Given the description of an element on the screen output the (x, y) to click on. 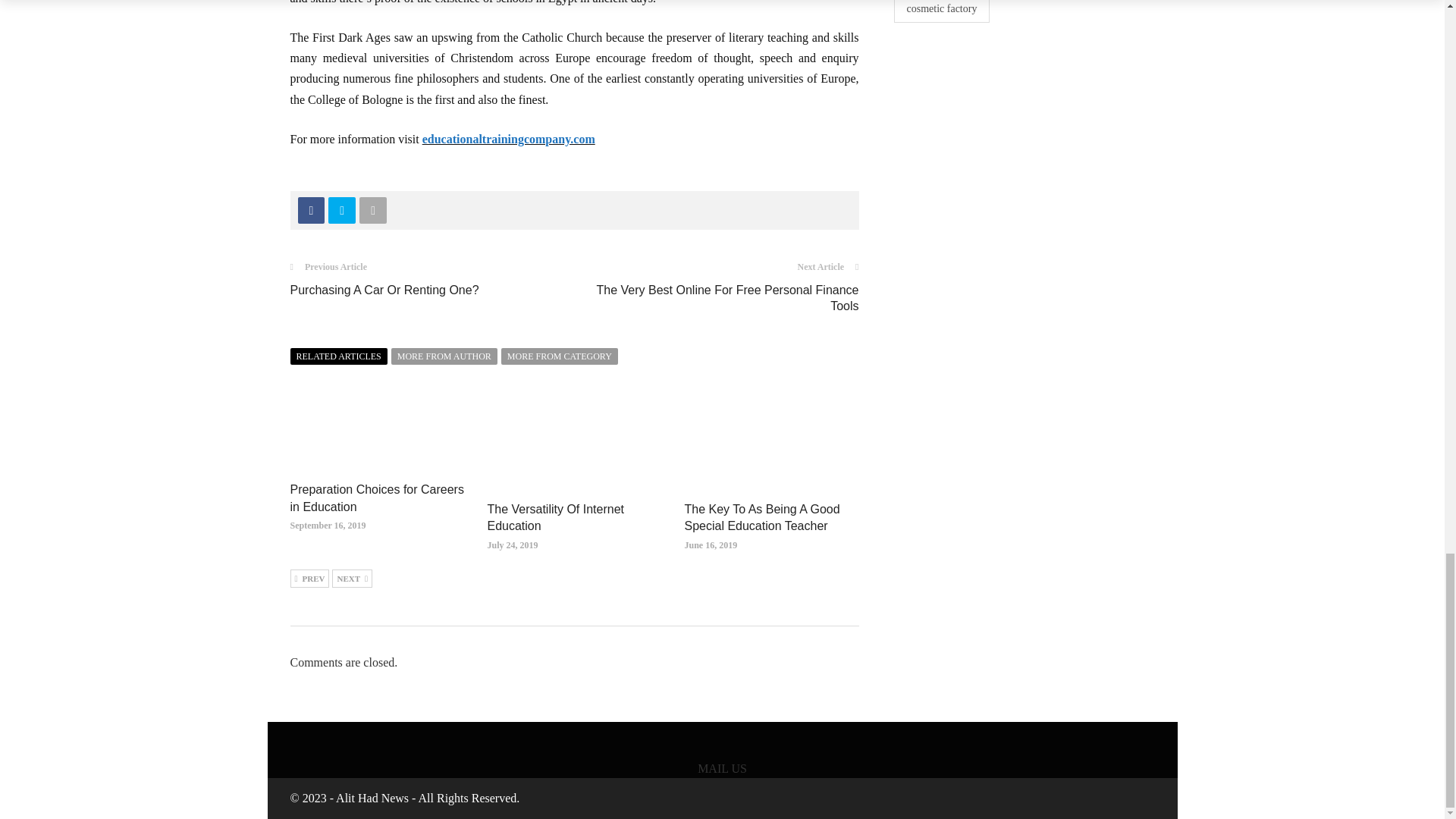
Previous (309, 578)
Next (351, 578)
